Given the description of an element on the screen output the (x, y) to click on. 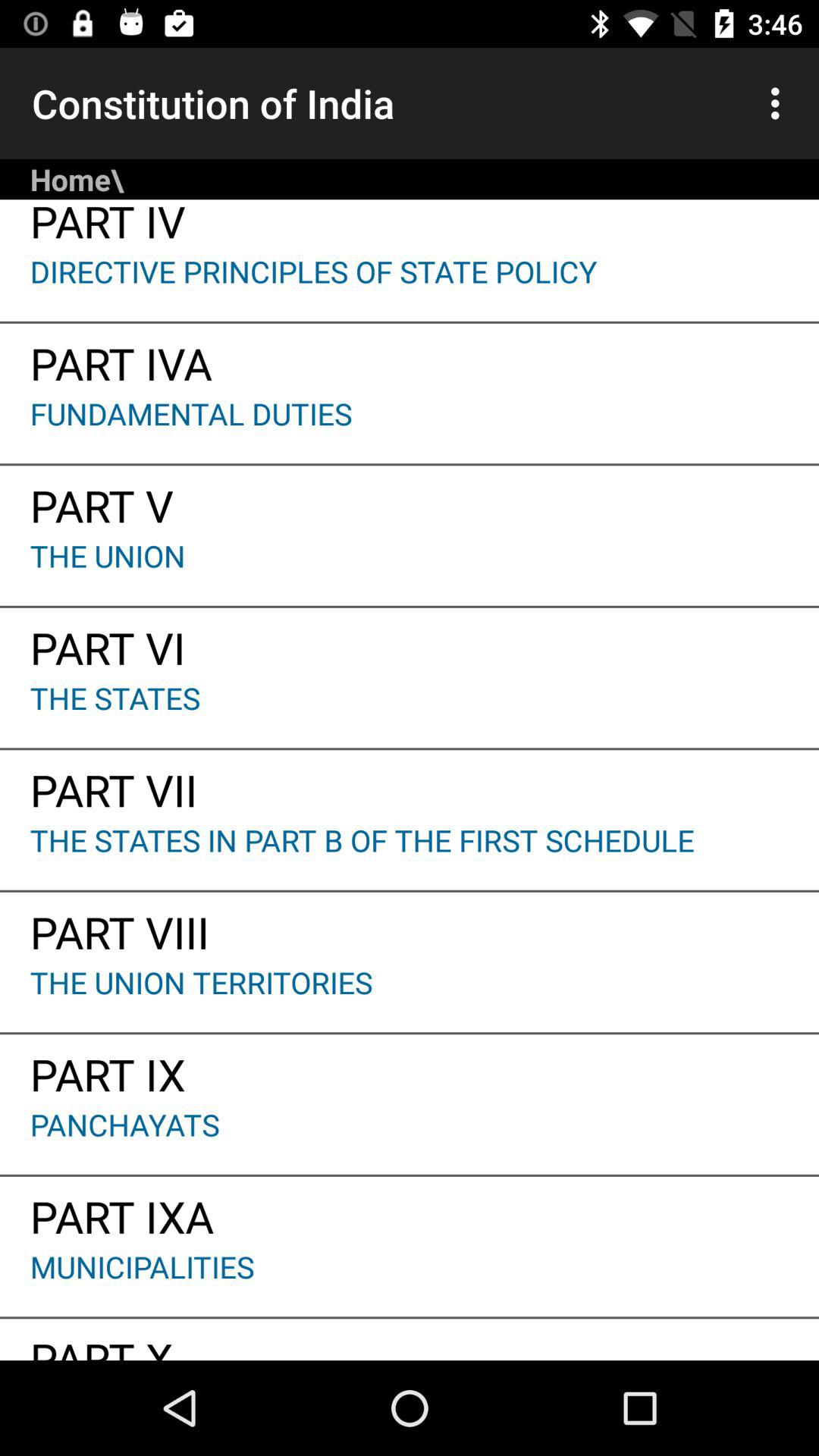
press part iv item (409, 225)
